Given the description of an element on the screen output the (x, y) to click on. 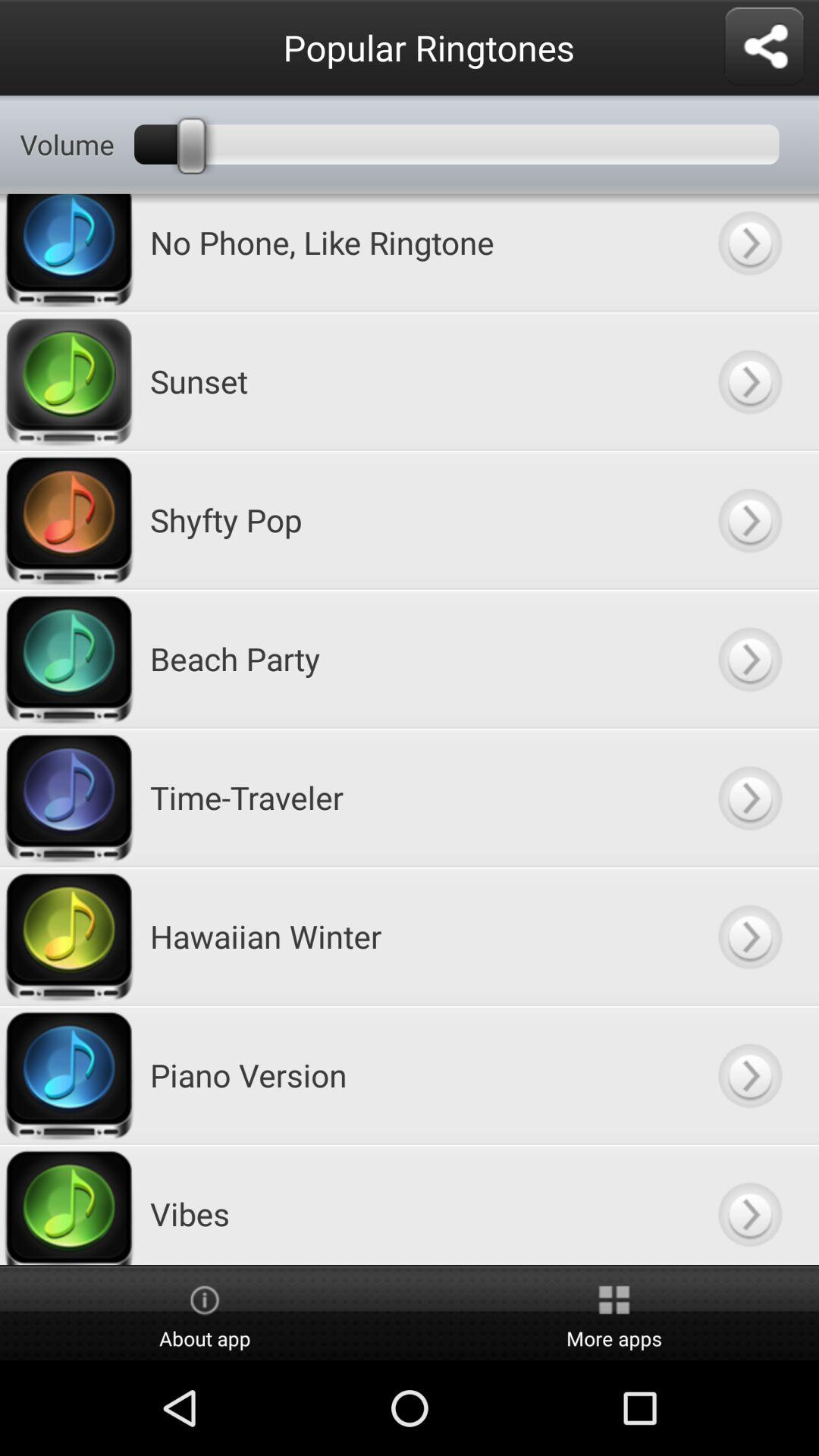
share (764, 47)
